Given the description of an element on the screen output the (x, y) to click on. 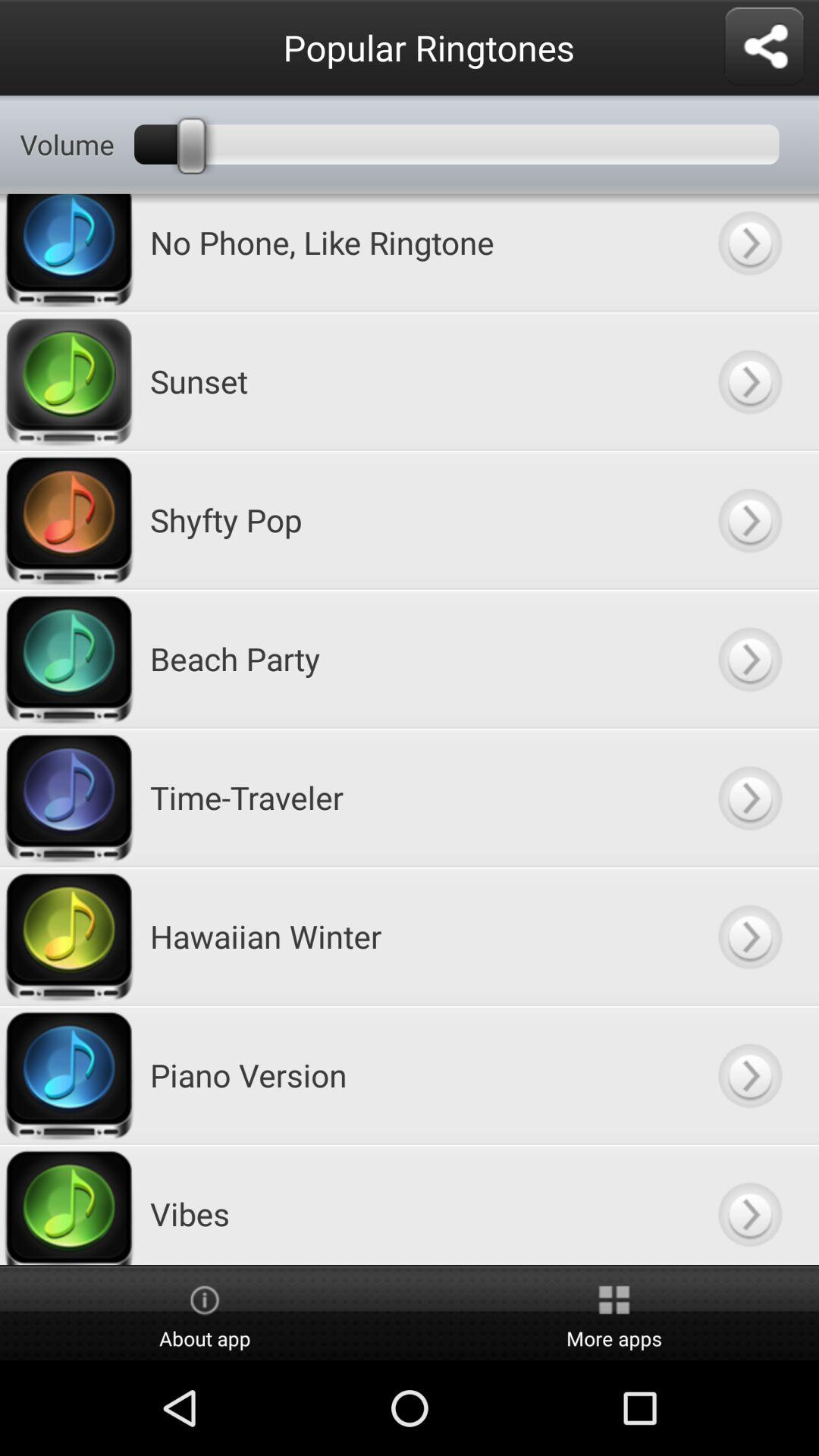
share (764, 47)
